Given the description of an element on the screen output the (x, y) to click on. 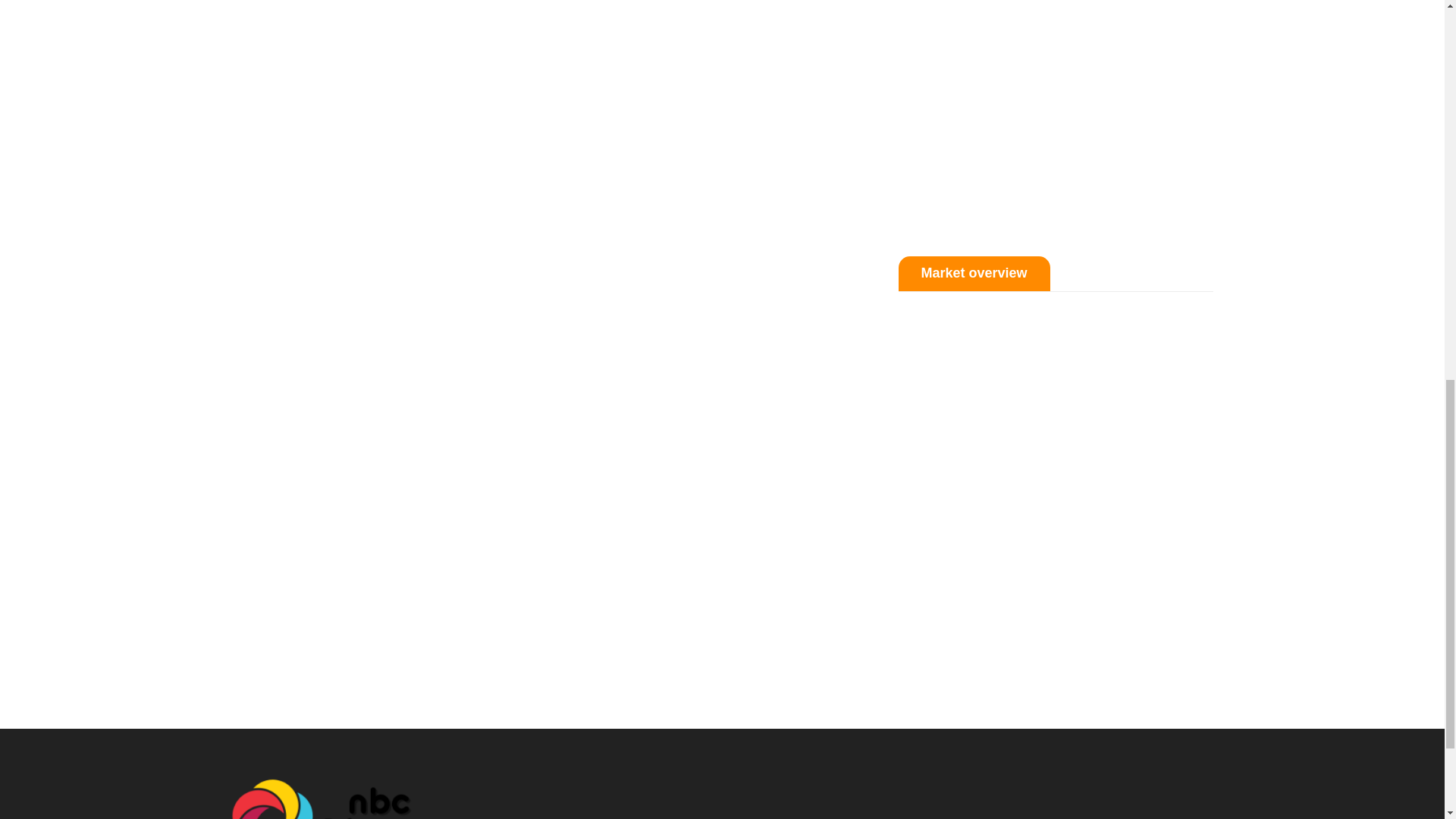
market overview TradingView widget (1055, 485)
events TradingView widget (1055, 113)
